Given the description of an element on the screen output the (x, y) to click on. 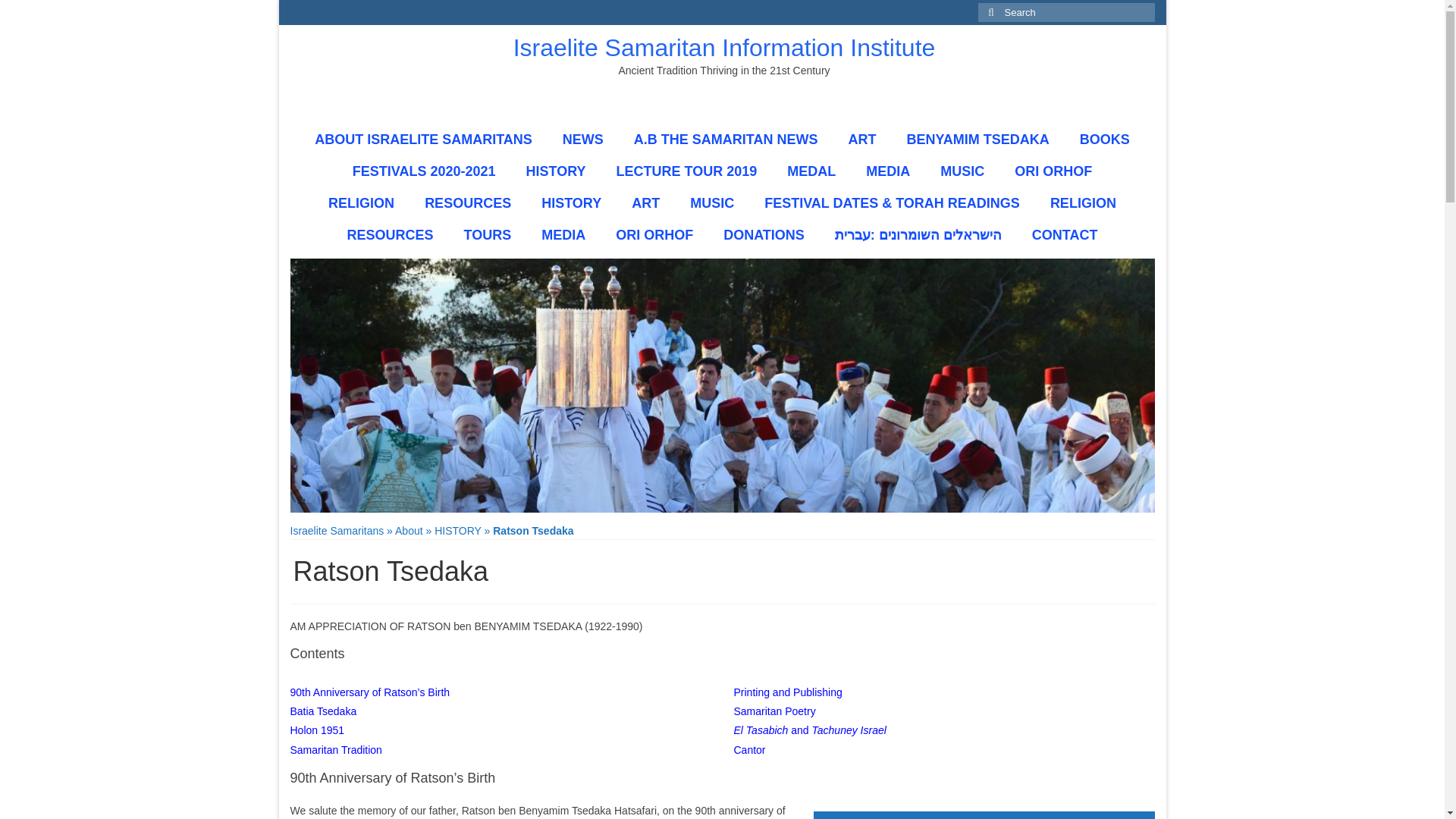
FESTIVALS 2020-2021 (424, 171)
From Ancient Times to Today (570, 203)
ABOUT ISRAELITE SAMARITANS (423, 139)
BOOKS (1104, 139)
NEWS (582, 139)
A.B THE SAMARITAN NEWS (725, 139)
ART (861, 139)
BENYAMIM TSEDAKA (977, 139)
HISTORY (556, 171)
Israelite Samaritan Information Institute (724, 47)
